Given the description of an element on the screen output the (x, y) to click on. 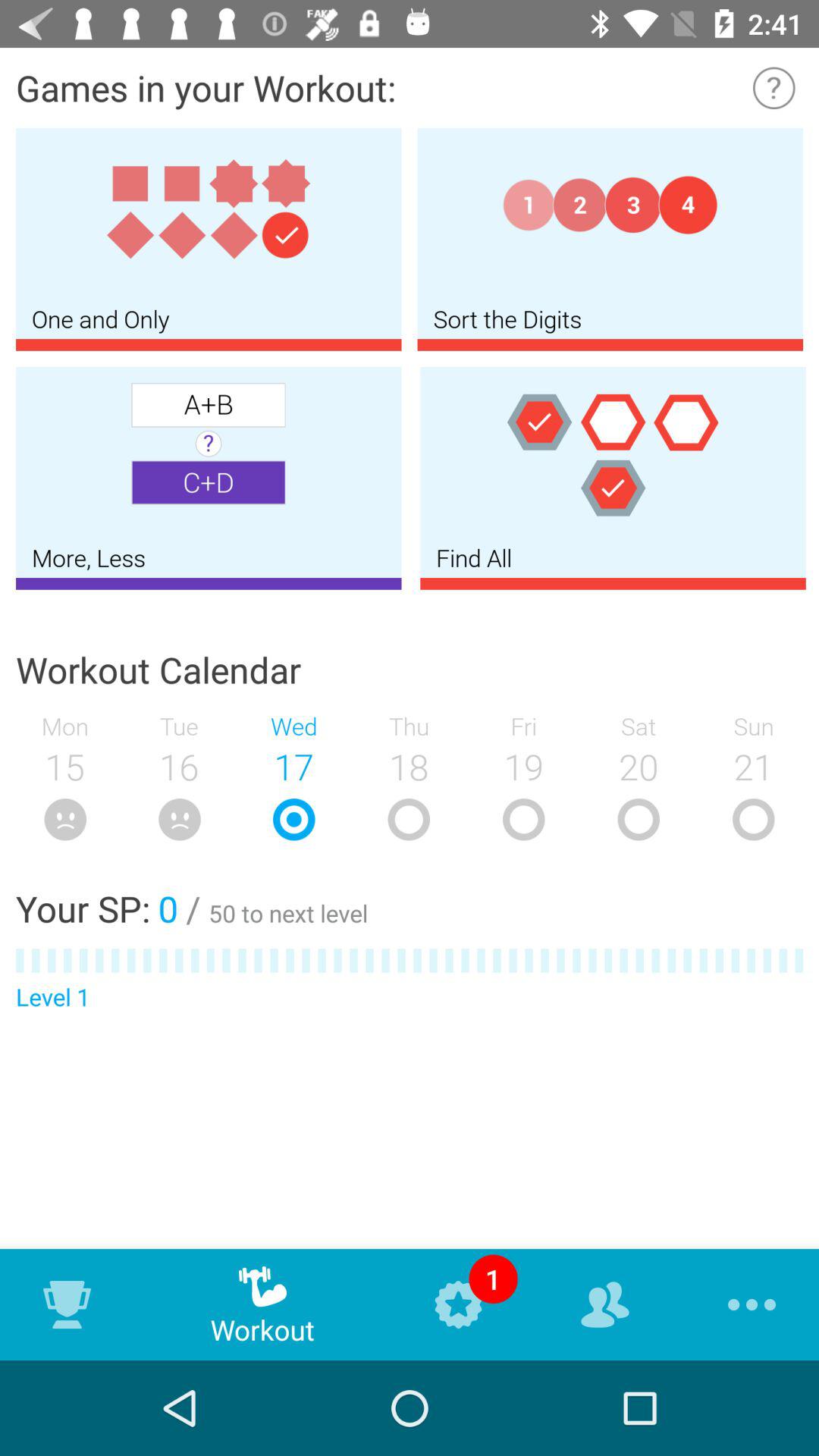
go to help screen (774, 87)
